Given the description of an element on the screen output the (x, y) to click on. 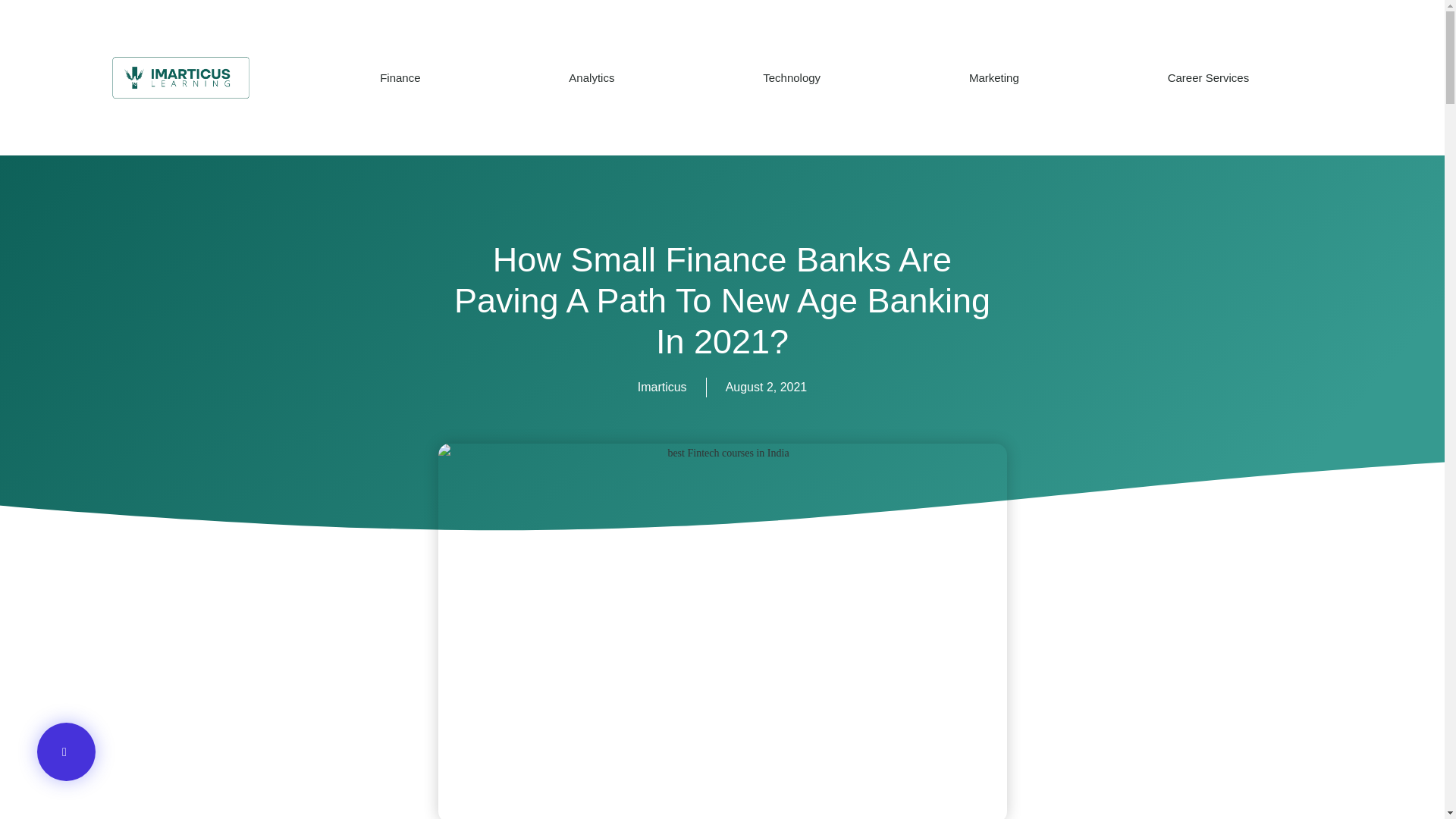
Finance (400, 77)
Marketing (994, 77)
August 2, 2021 (766, 387)
Analytics (591, 77)
Technology (791, 77)
Career Services (1208, 77)
Imarticus (662, 387)
